Given the description of an element on the screen output the (x, y) to click on. 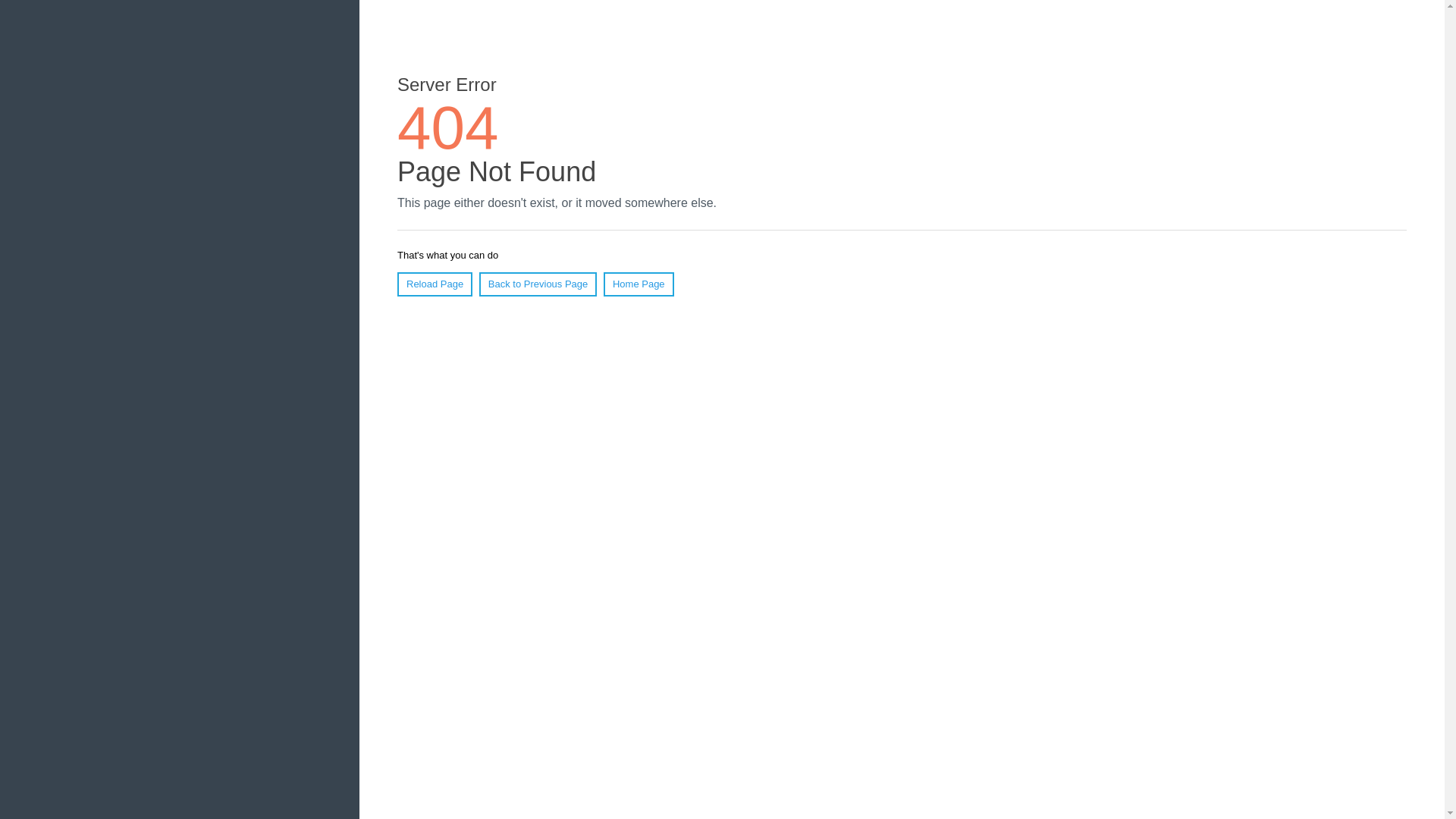
Home Page (639, 283)
Reload Page (434, 283)
Back to Previous Page (537, 283)
